Given the description of an element on the screen output the (x, y) to click on. 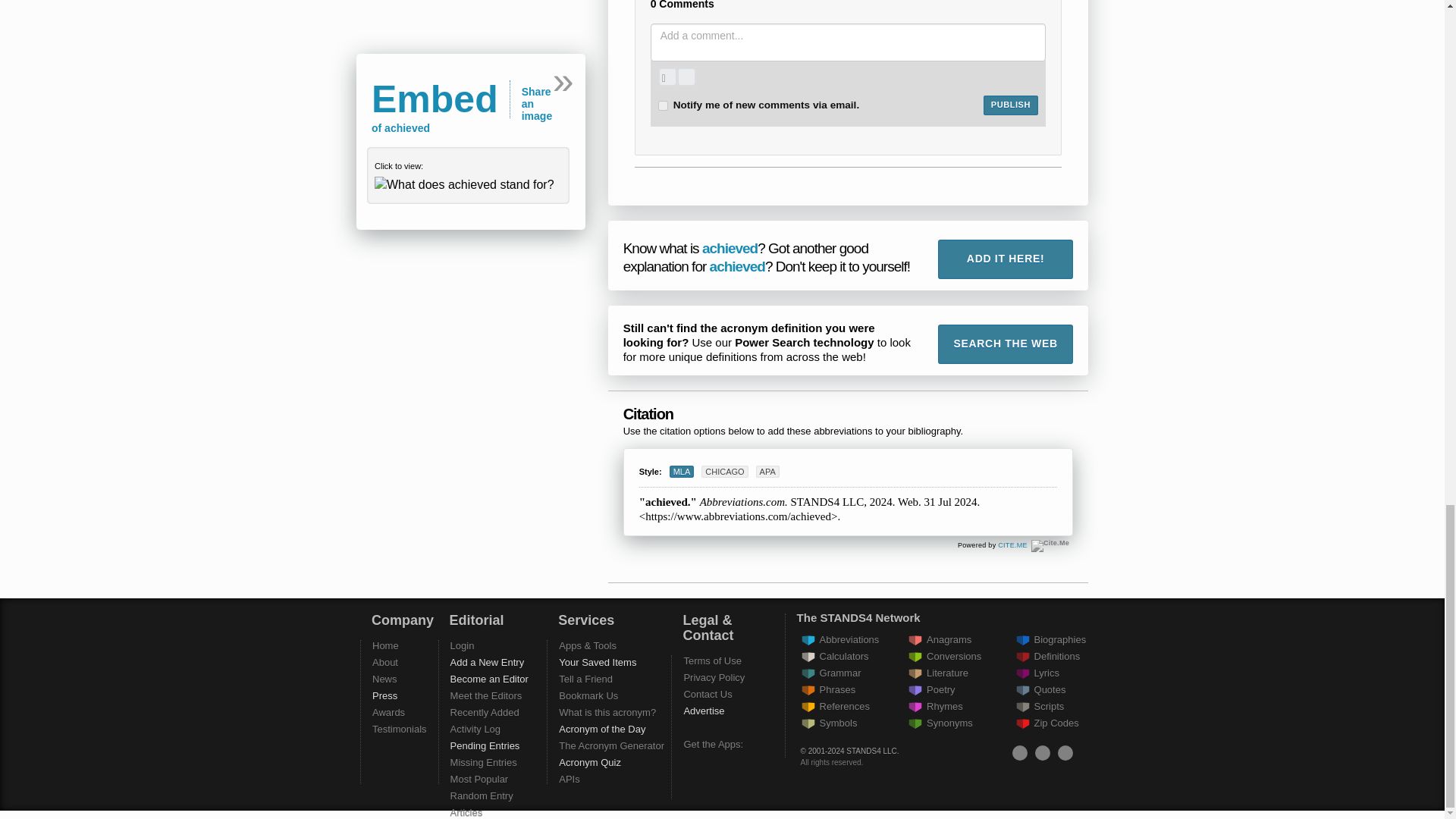
Record a sound (686, 76)
Cite.Me (1050, 545)
Upload an image (667, 76)
Cite.Me (1012, 544)
Cite.Me (1049, 545)
on (663, 105)
